Given the description of an element on the screen output the (x, y) to click on. 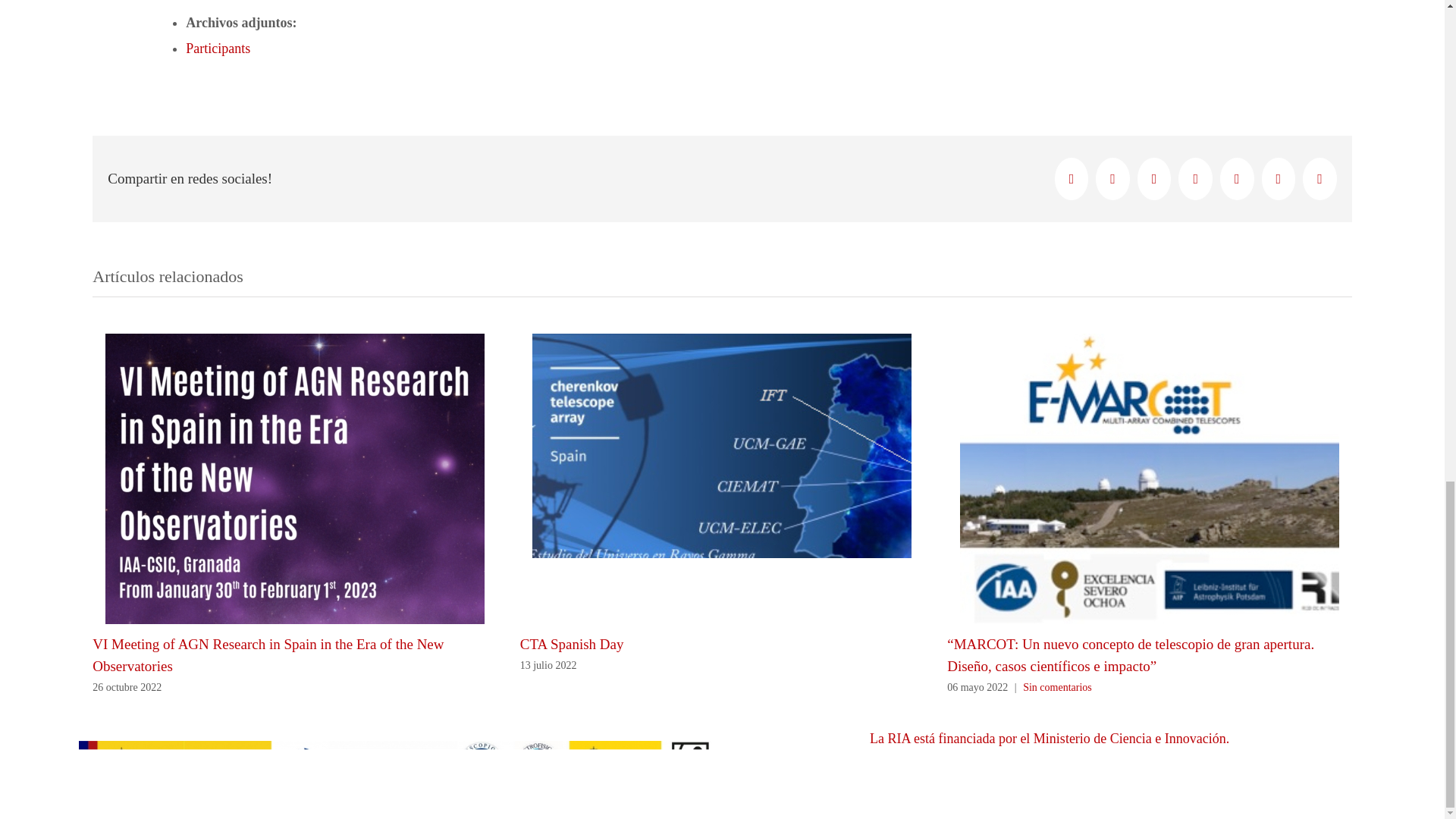
CTA Spanish Day (571, 643)
Participants (218, 48)
CTA Spanish Day (571, 643)
Sin comentarios (1057, 686)
Participants (218, 48)
